Given the description of an element on the screen output the (x, y) to click on. 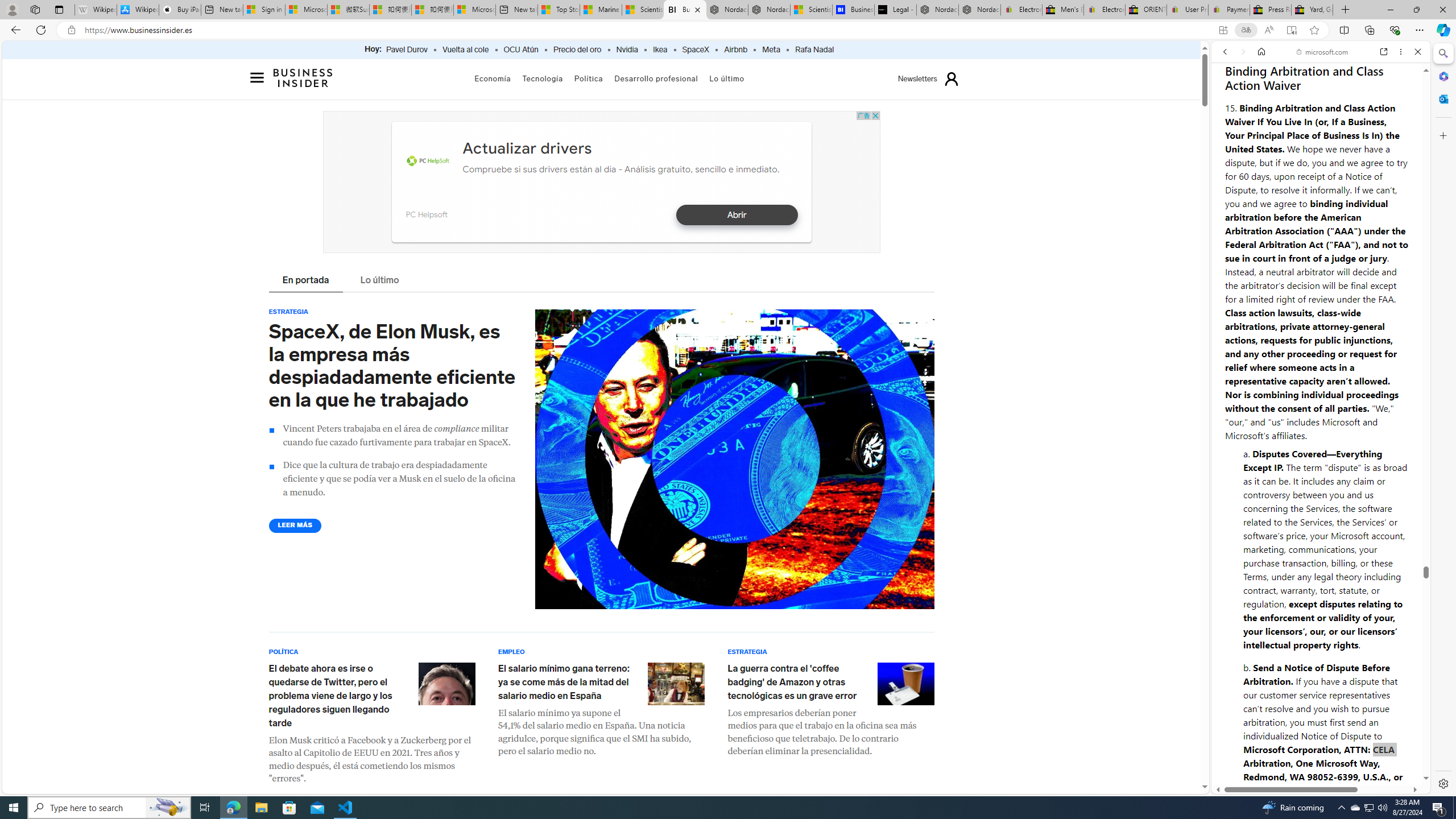
Yard, Garden & Outdoor Living (1312, 9)
microsoft.com (1323, 51)
Logo BusinessInsider.es (303, 76)
Elon Musk (446, 683)
En portada (305, 281)
Wikipedia - Sleeping (95, 9)
Coffee Badgings (905, 683)
Vuelta al cole (465, 49)
Airbnb (735, 49)
Abrir (736, 214)
